Given the description of an element on the screen output the (x, y) to click on. 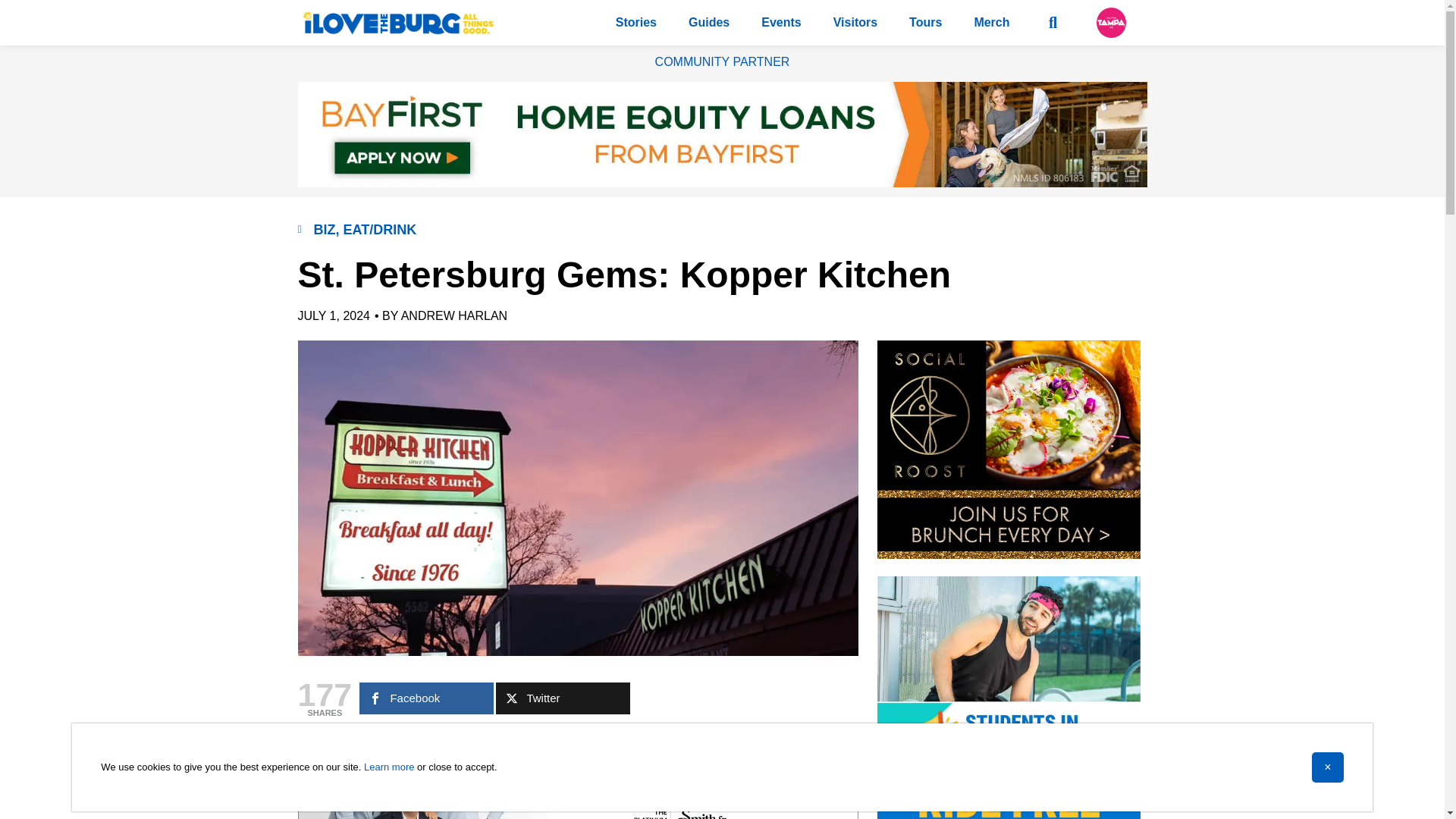
Link opens an external site. (563, 698)
COMMUNITY PARTNER (722, 61)
Link opens an external site. (1110, 22)
Events (780, 22)
Link opens an external site. (426, 698)
Learn more (388, 767)
Link opens an external site in a new window. (722, 182)
Stories (635, 22)
Visitors (855, 22)
Tours (924, 22)
Guides (708, 22)
Merch (991, 22)
